Given the description of an element on the screen output the (x, y) to click on. 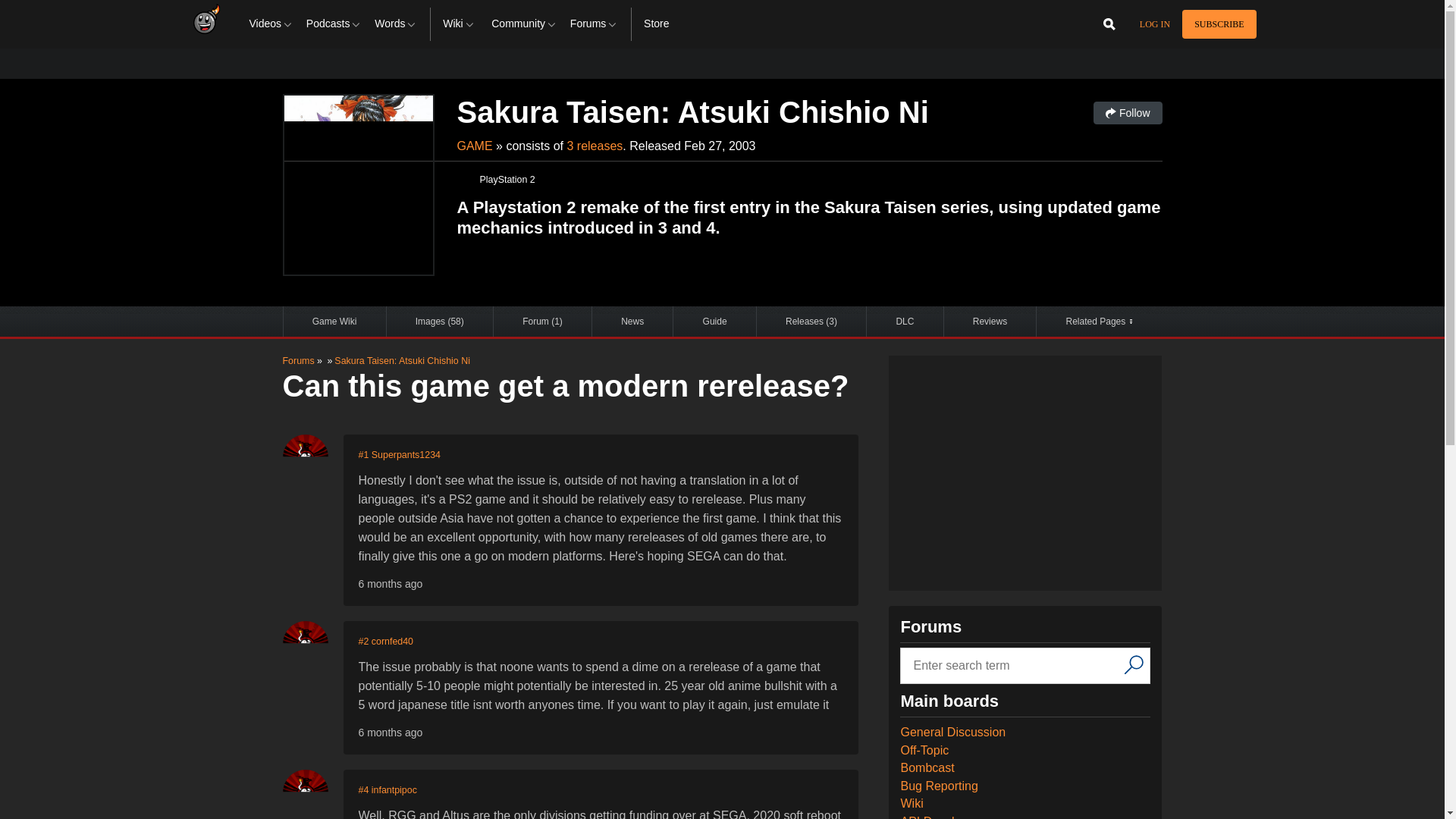
Jan 18, 2024, 9:26pm (390, 583)
Jan 19, 2024, 1:08pm (390, 732)
Videos (271, 24)
Podcasts (333, 24)
Words (395, 24)
